Given the description of an element on the screen output the (x, y) to click on. 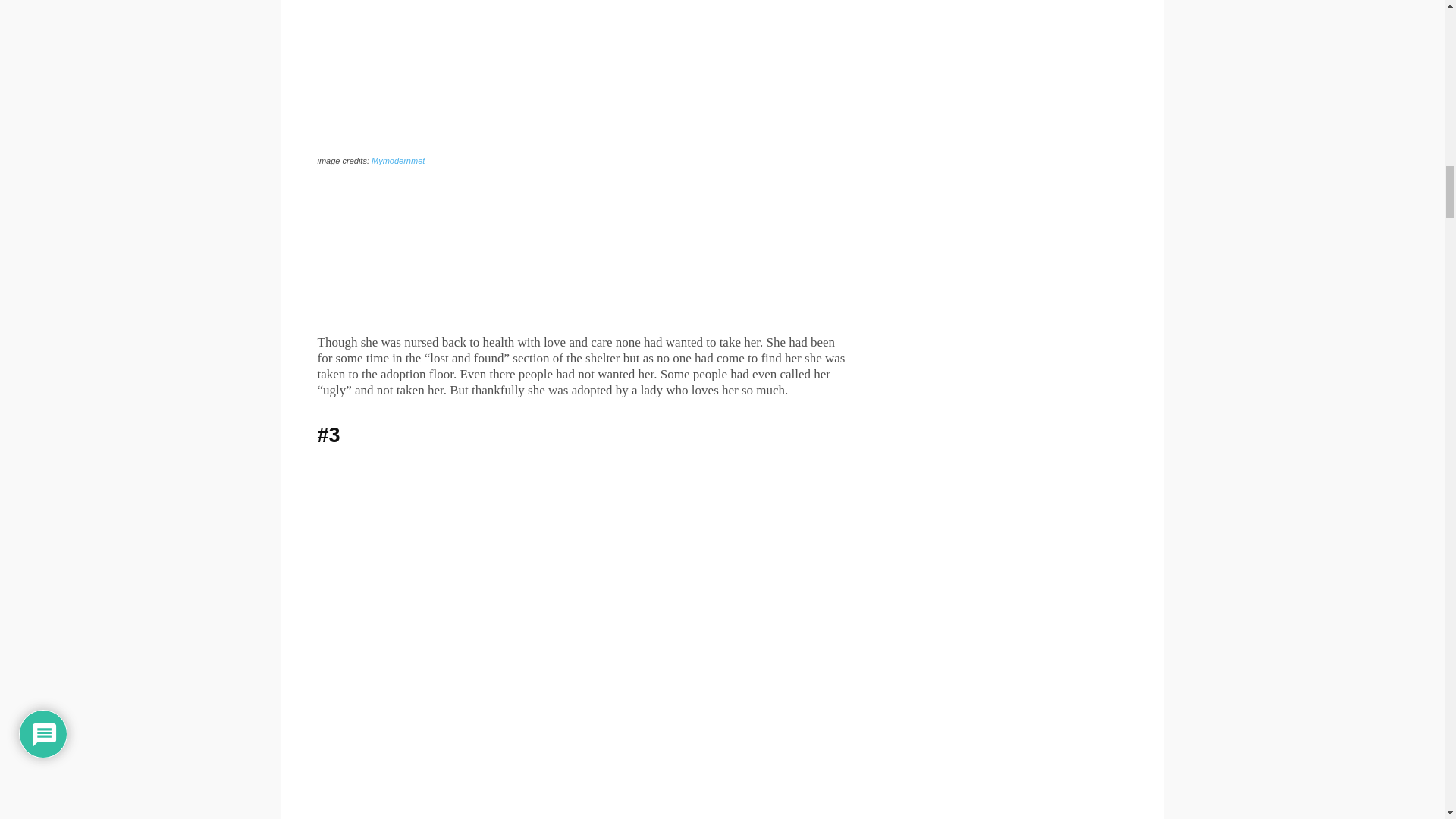
Mymodernmet (398, 160)
Advertisement (580, 253)
